Given the description of an element on the screen output the (x, y) to click on. 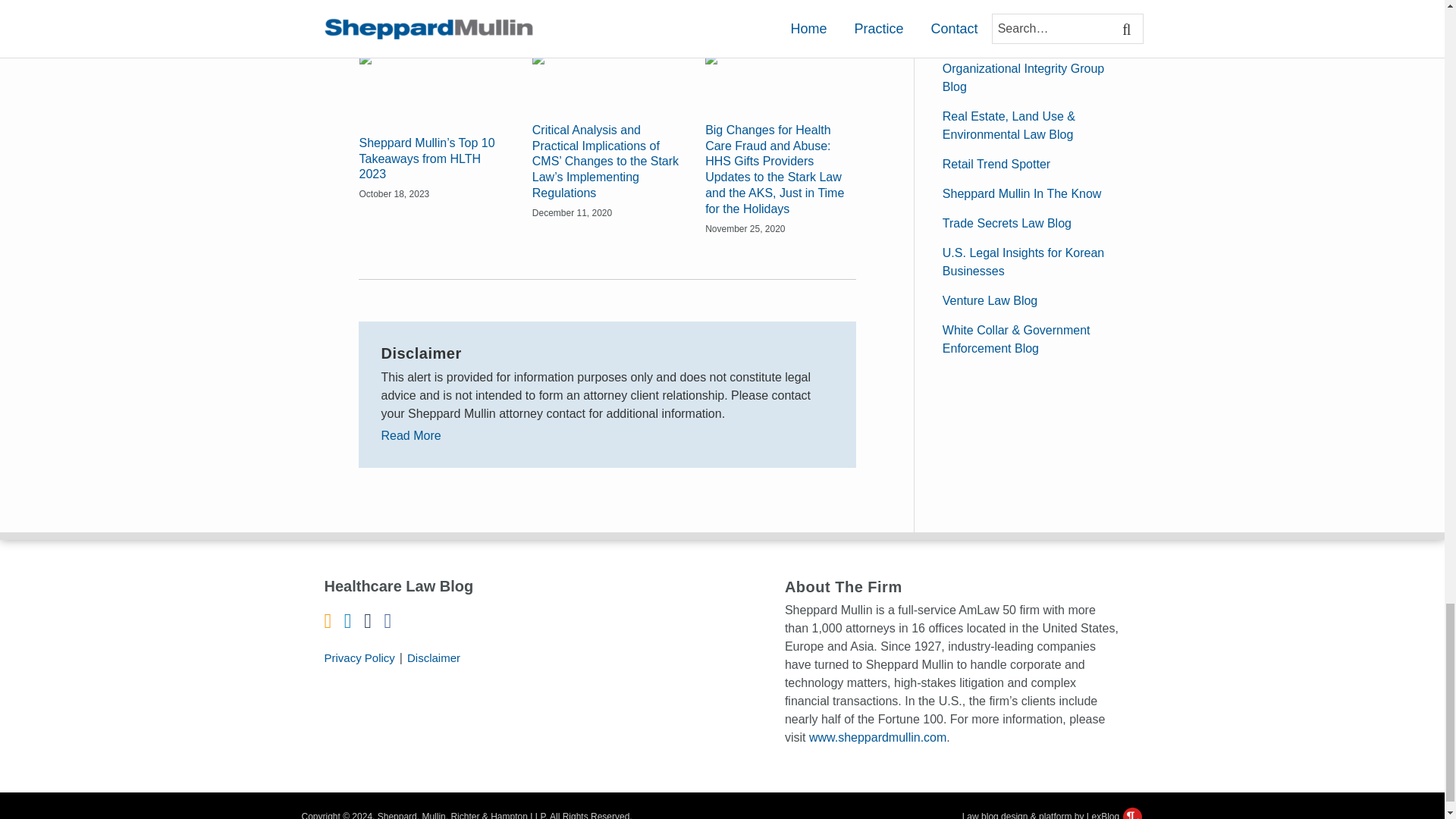
LexBlog Logo (1131, 813)
